Given the description of an element on the screen output the (x, y) to click on. 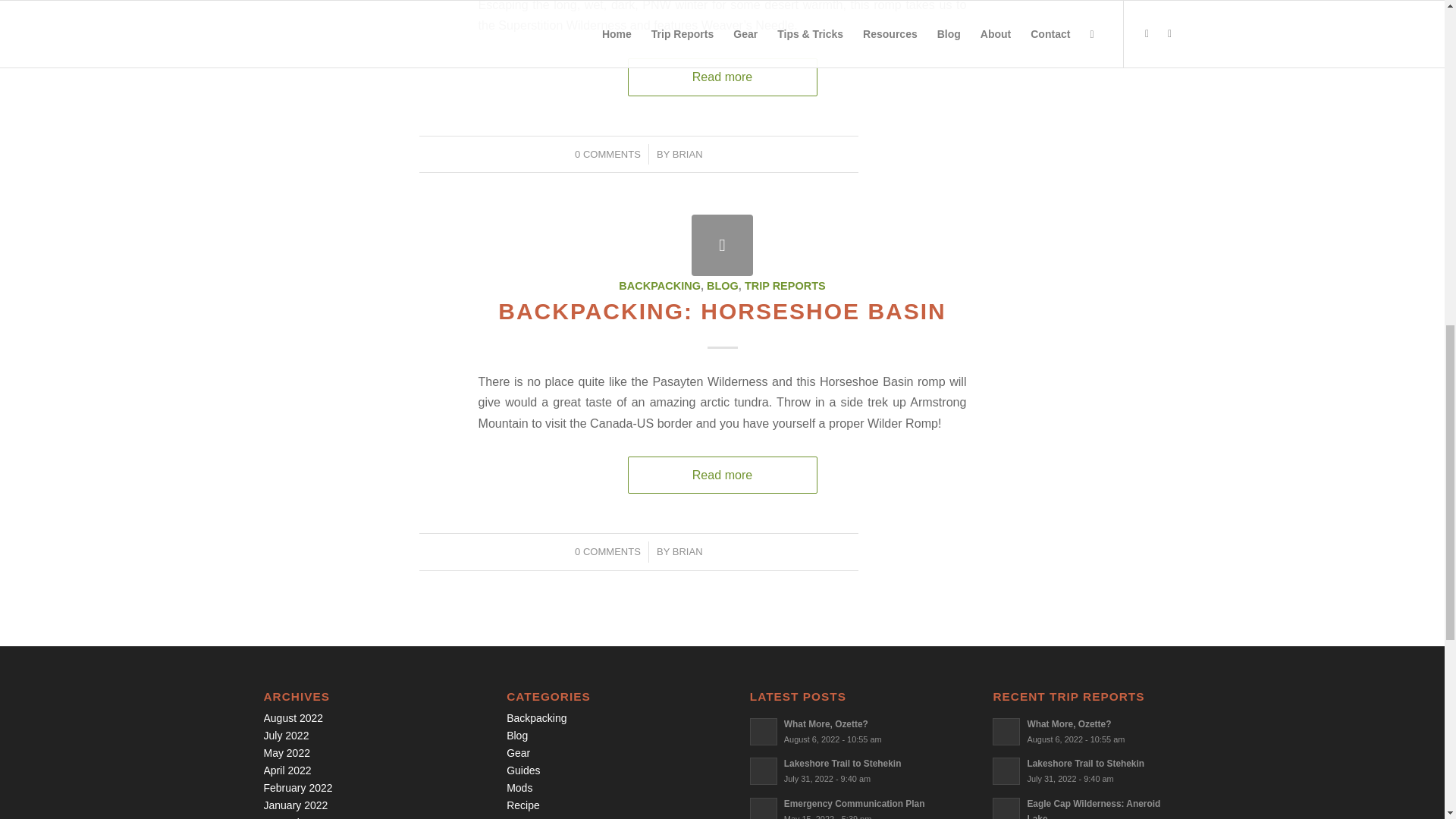
BACKPACKING (659, 285)
August 2022 (293, 717)
Posts by Brian (687, 153)
TRIP REPORTS (784, 285)
0 COMMENTS (607, 551)
0 COMMENTS (607, 153)
BRIAN (687, 551)
Read more (721, 474)
Read more (721, 76)
BACKPACKING: HORSESHOE BASIN (720, 310)
